Given the description of an element on the screen output the (x, y) to click on. 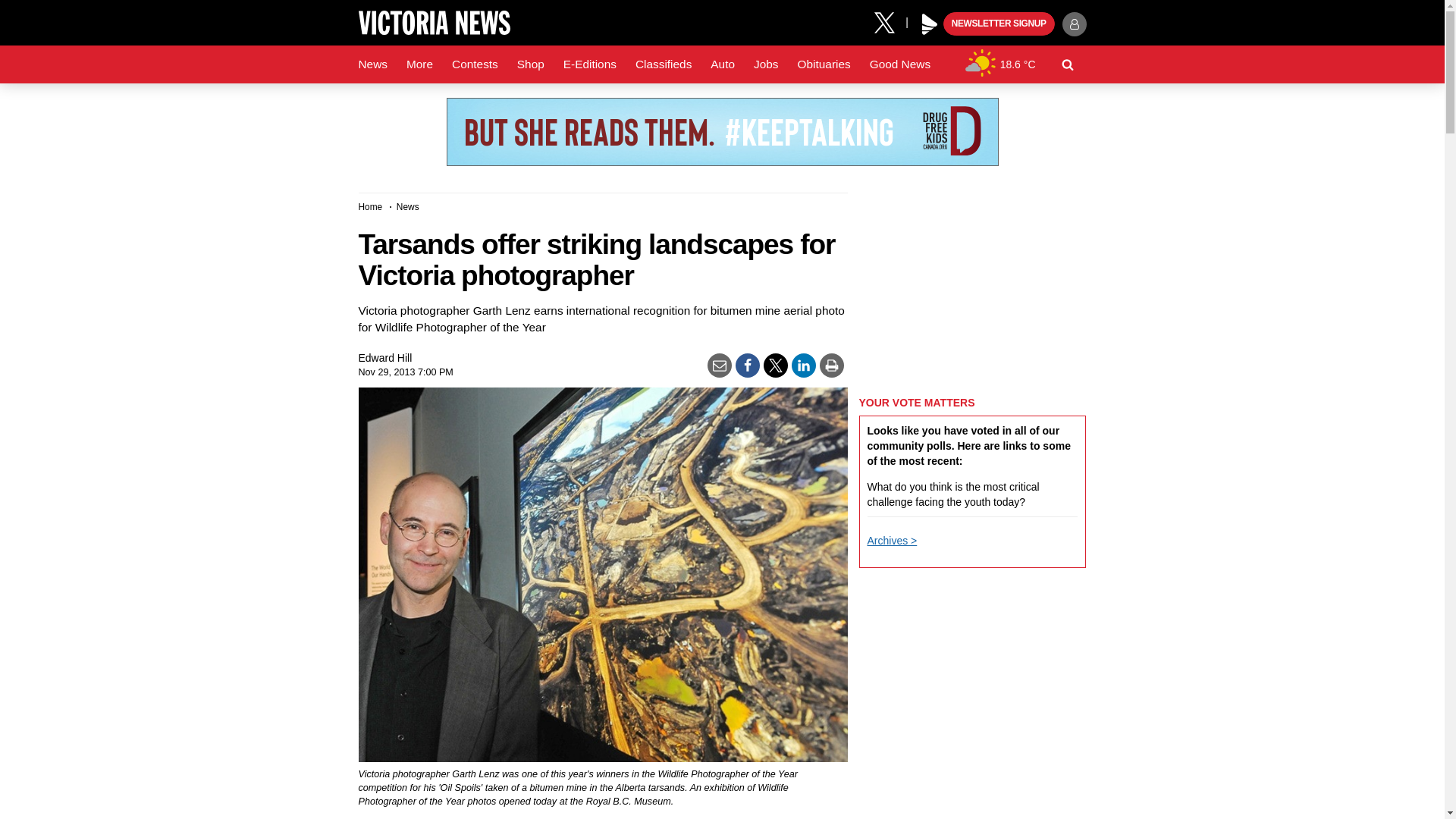
Black Press Media (929, 24)
Play (929, 24)
3rd party ad content (721, 131)
X (889, 21)
NEWSLETTER SIGNUP (998, 24)
News (372, 64)
